Given the description of an element on the screen output the (x, y) to click on. 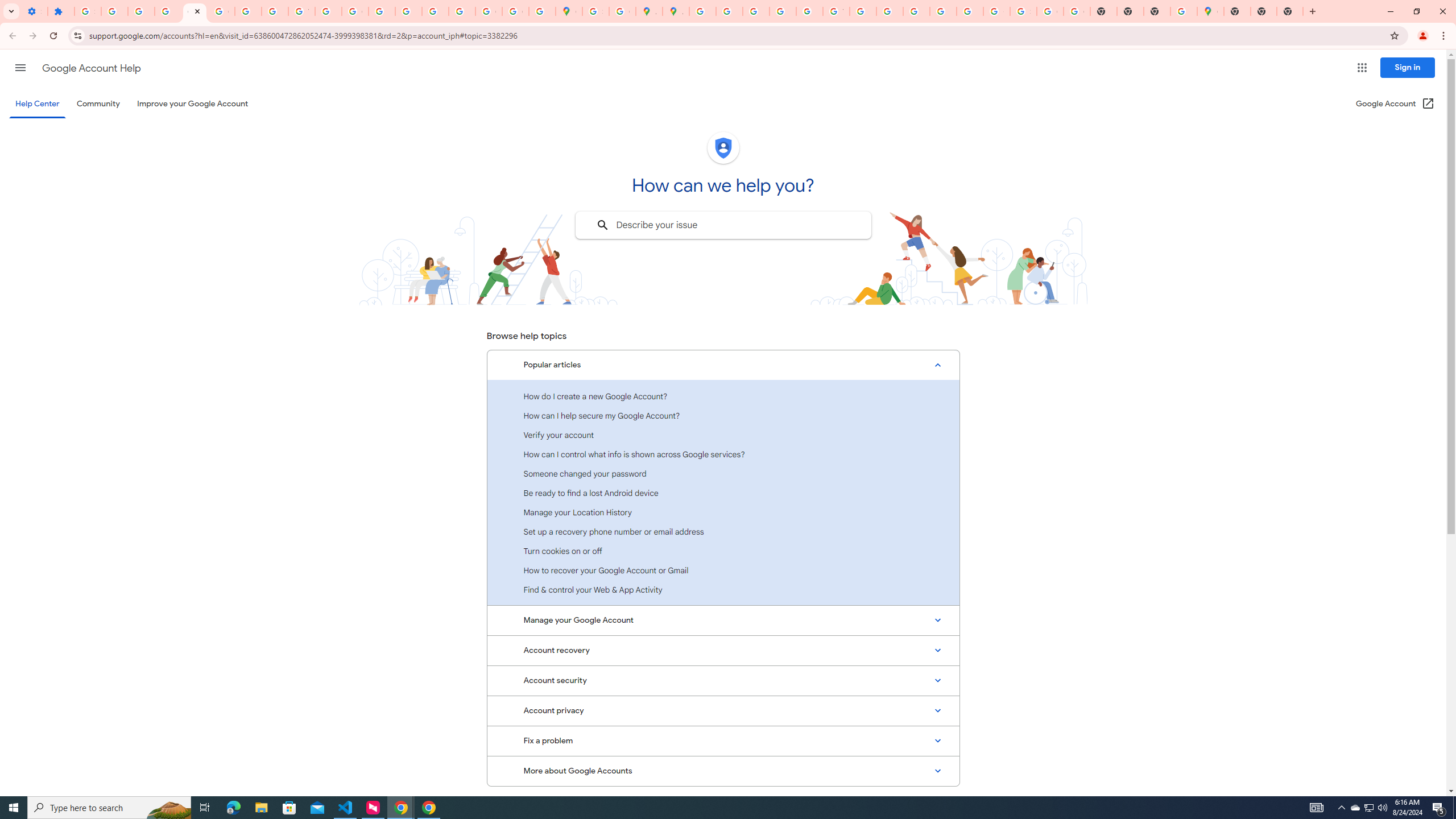
How to recover your Google Account or Gmail (722, 570)
Verify your account (722, 434)
Be ready to find a lost Android device (722, 492)
Popular articles, Expanded list with 11 items (722, 365)
Manage your Google Account (722, 620)
